Given the description of an element on the screen output the (x, y) to click on. 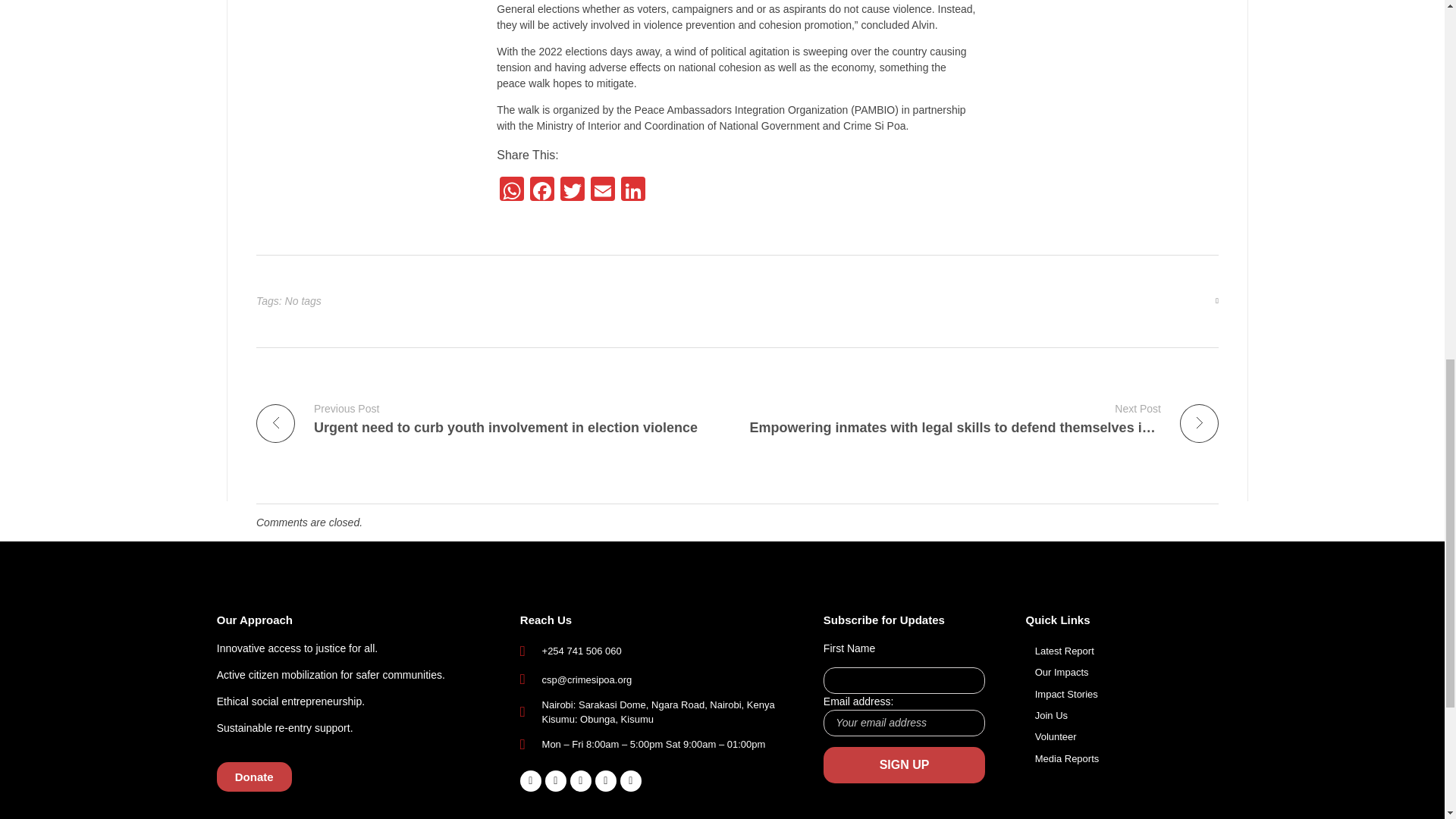
Twitter (572, 190)
WhatsApp (511, 190)
Email (602, 190)
Facebook (542, 190)
LinkedIn (632, 190)
WhatsApp (511, 190)
Facebook (542, 190)
Twitter (572, 190)
LinkedIn (632, 190)
Email (602, 190)
Donate (254, 776)
Sign up (904, 764)
